Given the description of an element on the screen output the (x, y) to click on. 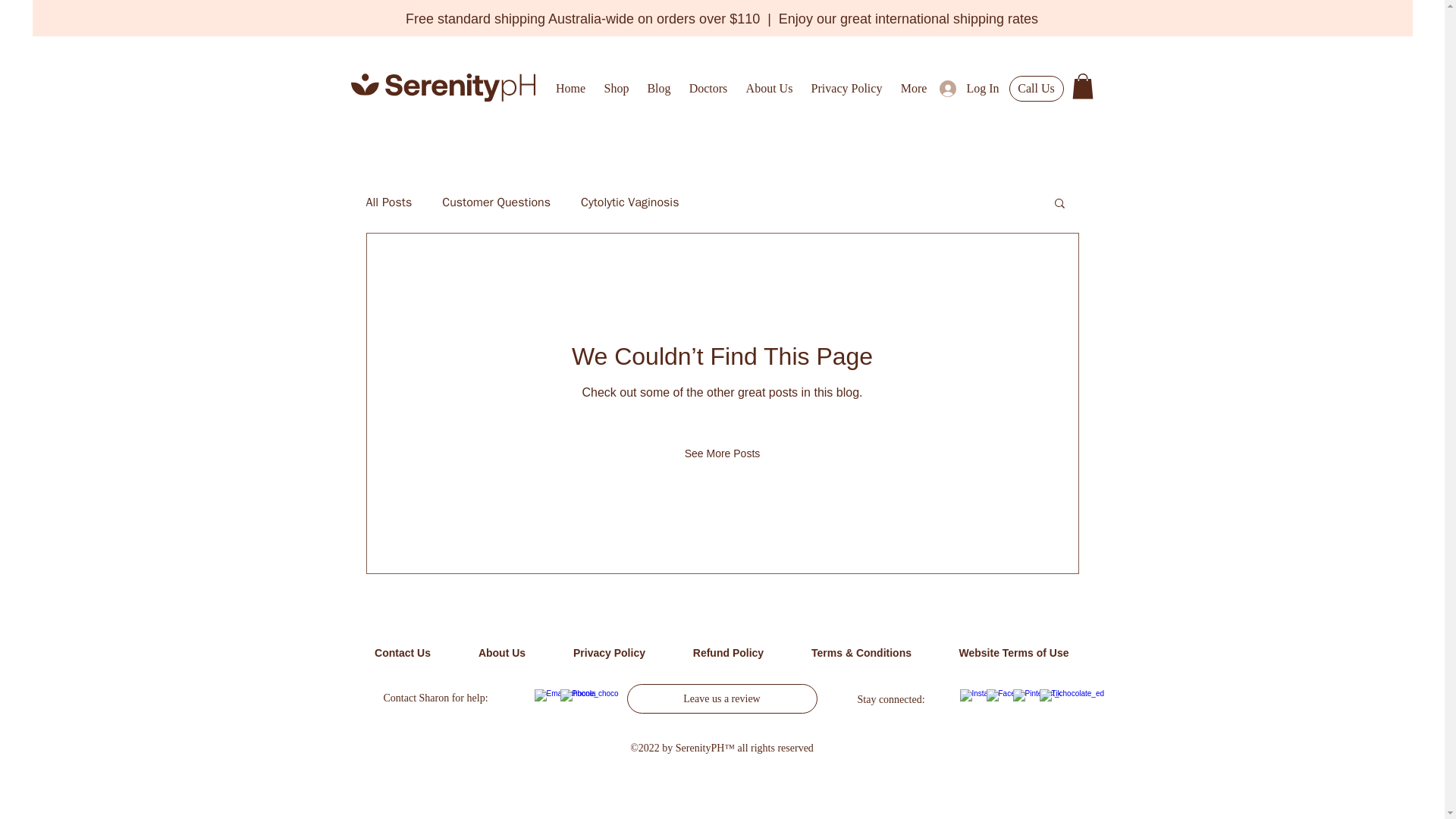
Blog (659, 85)
Privacy Policy (846, 85)
About Us (769, 85)
All Posts (388, 202)
Website Terms of Use (1014, 652)
Doctors (707, 85)
Cytolytic Vaginosis (629, 202)
Shop (615, 85)
Refund Policy (727, 652)
Leave us a review (721, 698)
